Given the description of an element on the screen output the (x, y) to click on. 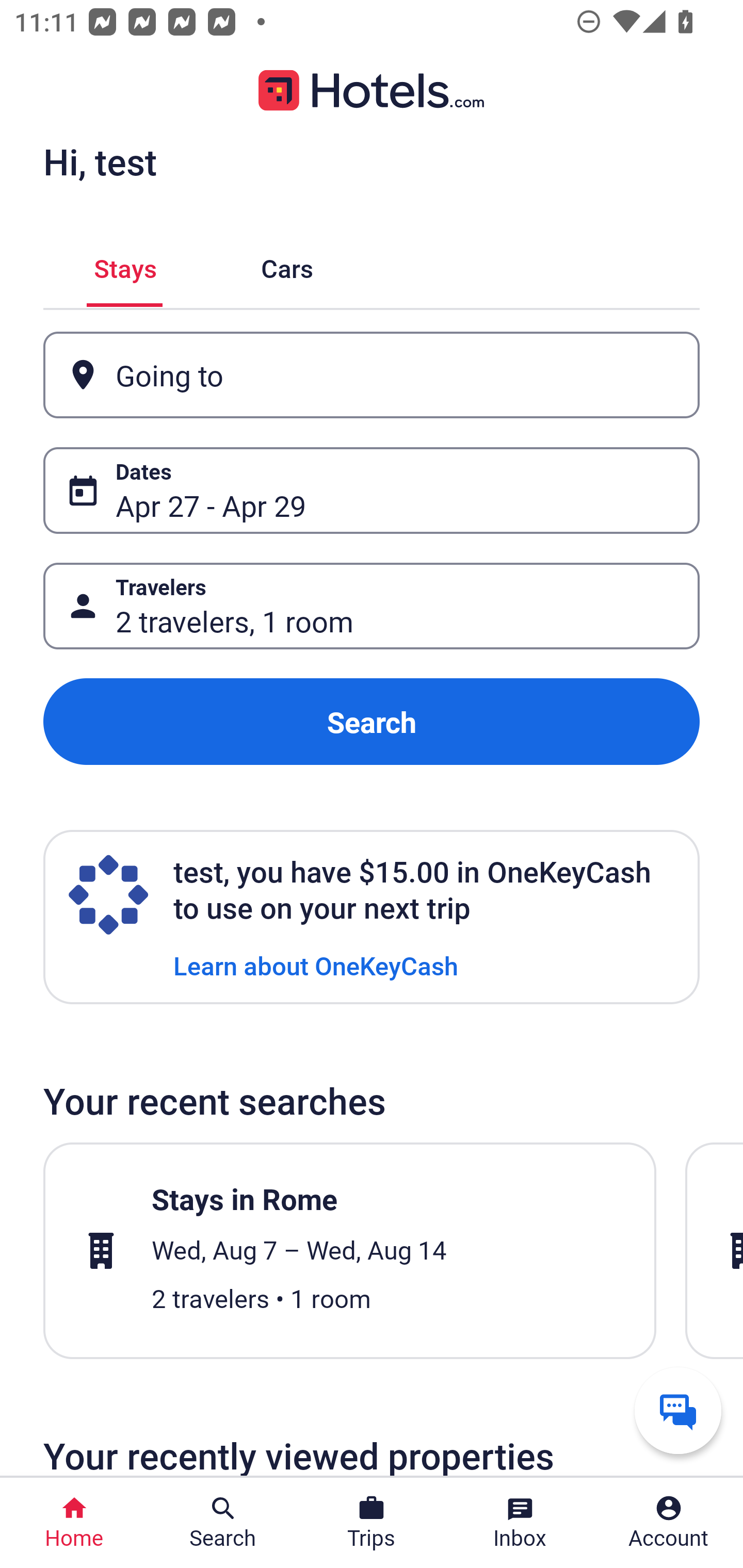
Hi, test (99, 161)
Cars (286, 265)
Going to Button (371, 375)
Dates Button Apr 27 - Apr 29 (371, 489)
Travelers Button 2 travelers, 1 room (371, 605)
Search (371, 721)
Learn about OneKeyCash Learn about OneKeyCash Link (315, 964)
Get help from a virtual agent (677, 1410)
Search Search Button (222, 1522)
Trips Trips Button (371, 1522)
Inbox Inbox Button (519, 1522)
Account Profile. Button (668, 1522)
